Given the description of an element on the screen output the (x, y) to click on. 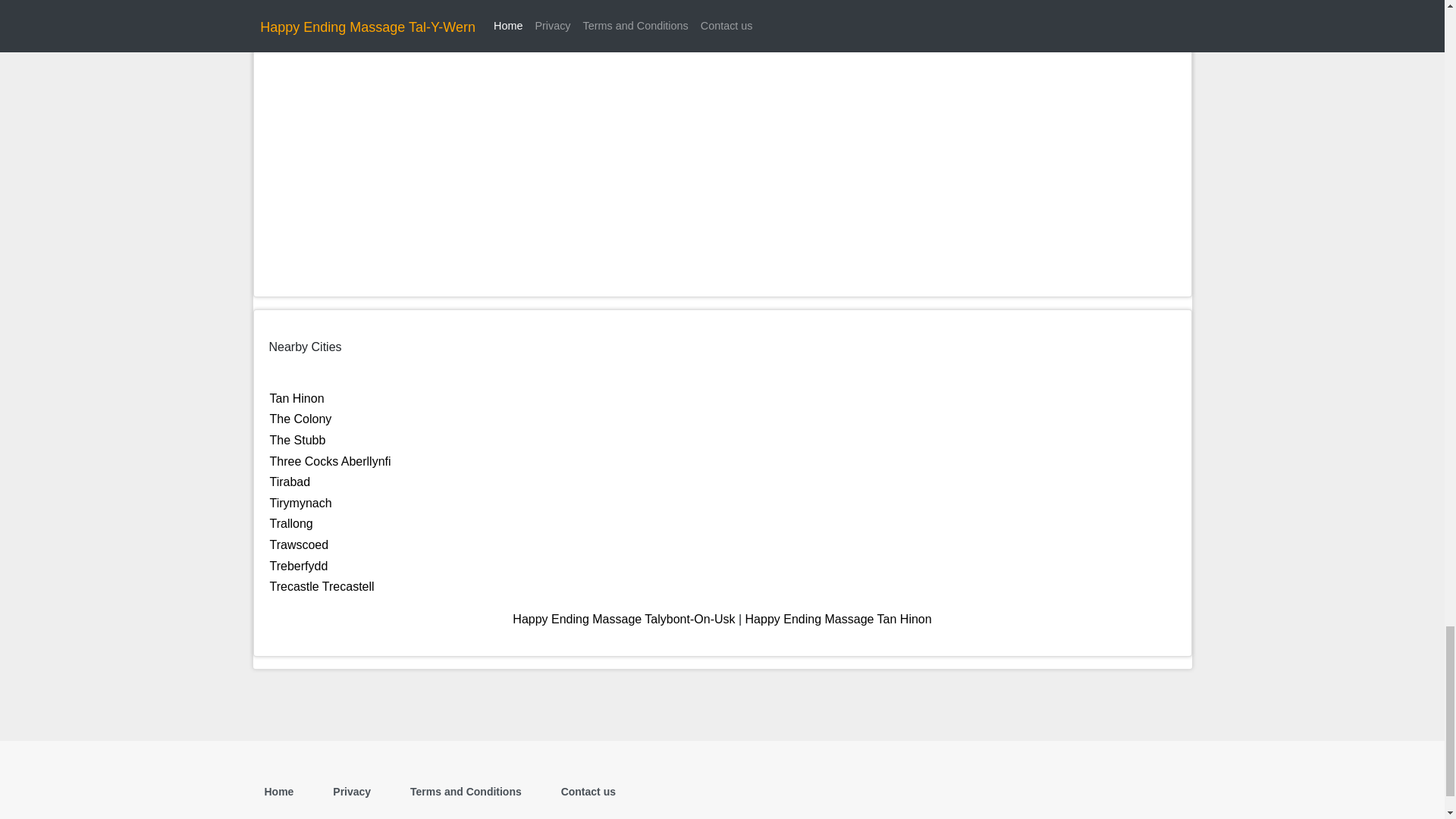
Happy Ending Massage Talybont-On-Usk (623, 618)
The Colony (300, 418)
Trallong (291, 522)
Trecastle Trecastell (321, 585)
Tan Hinon (296, 398)
The Stubb (297, 440)
Tirymynach (300, 502)
Tirabad (290, 481)
Happy Ending Massage Tan Hinon (838, 618)
Treberfydd (299, 565)
Trawscoed (299, 544)
Three Cocks Aberllynfi (330, 461)
